Given the description of an element on the screen output the (x, y) to click on. 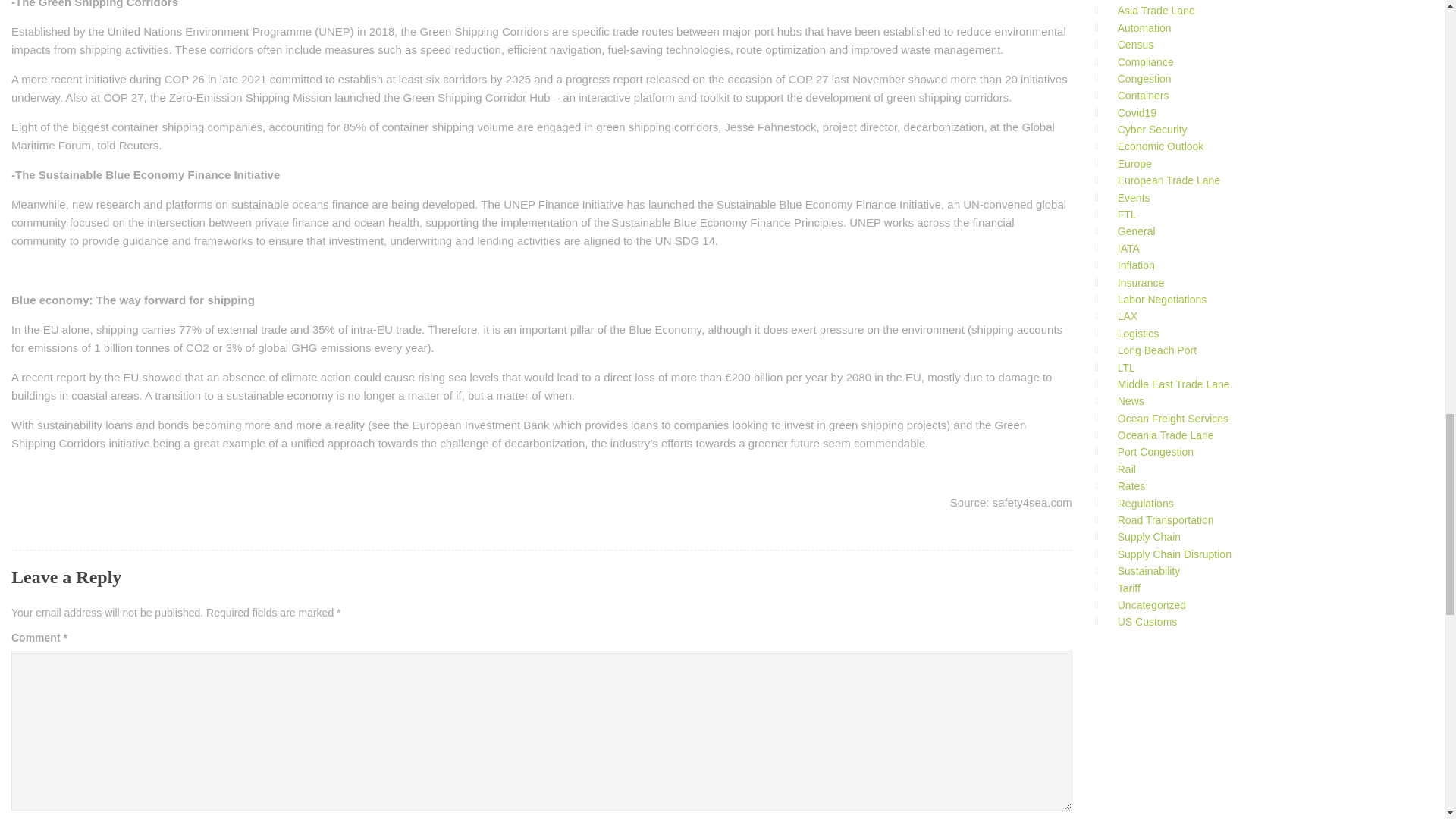
Facebook Page Plugin (1208, 728)
